Given the description of an element on the screen output the (x, y) to click on. 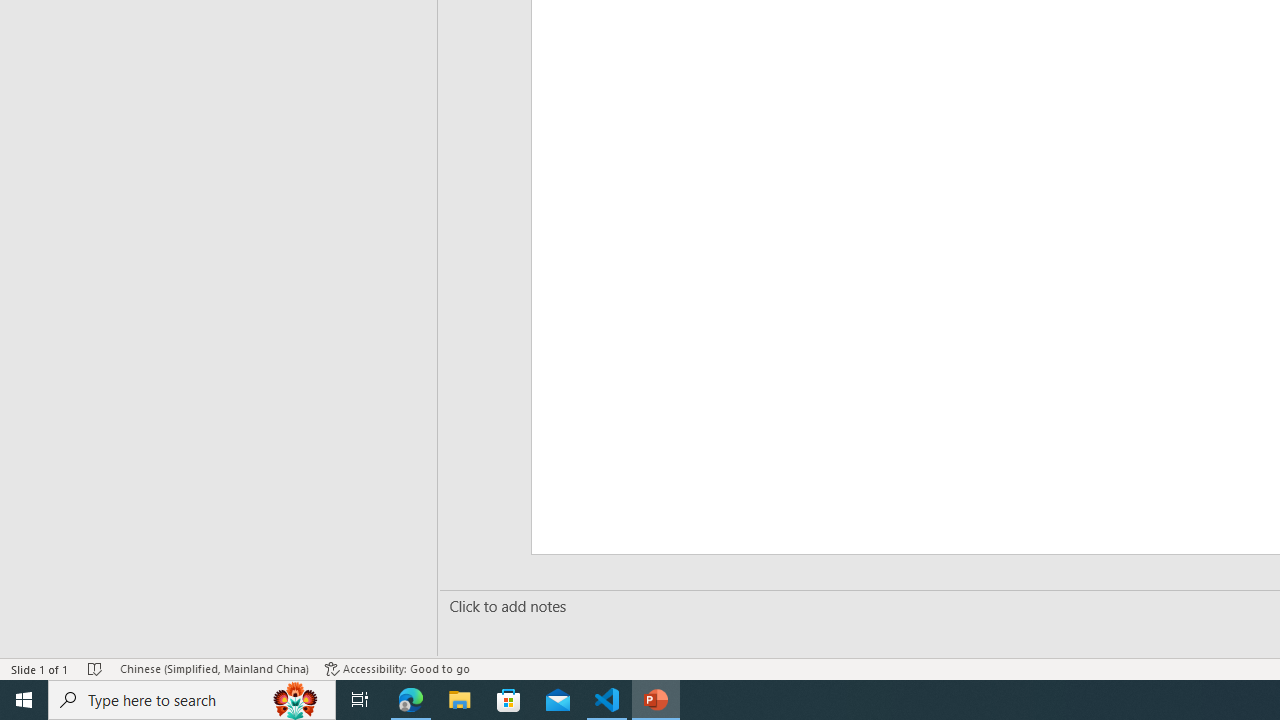
Accessibility Checker Accessibility: Good to go (397, 668)
